Given the description of an element on the screen output the (x, y) to click on. 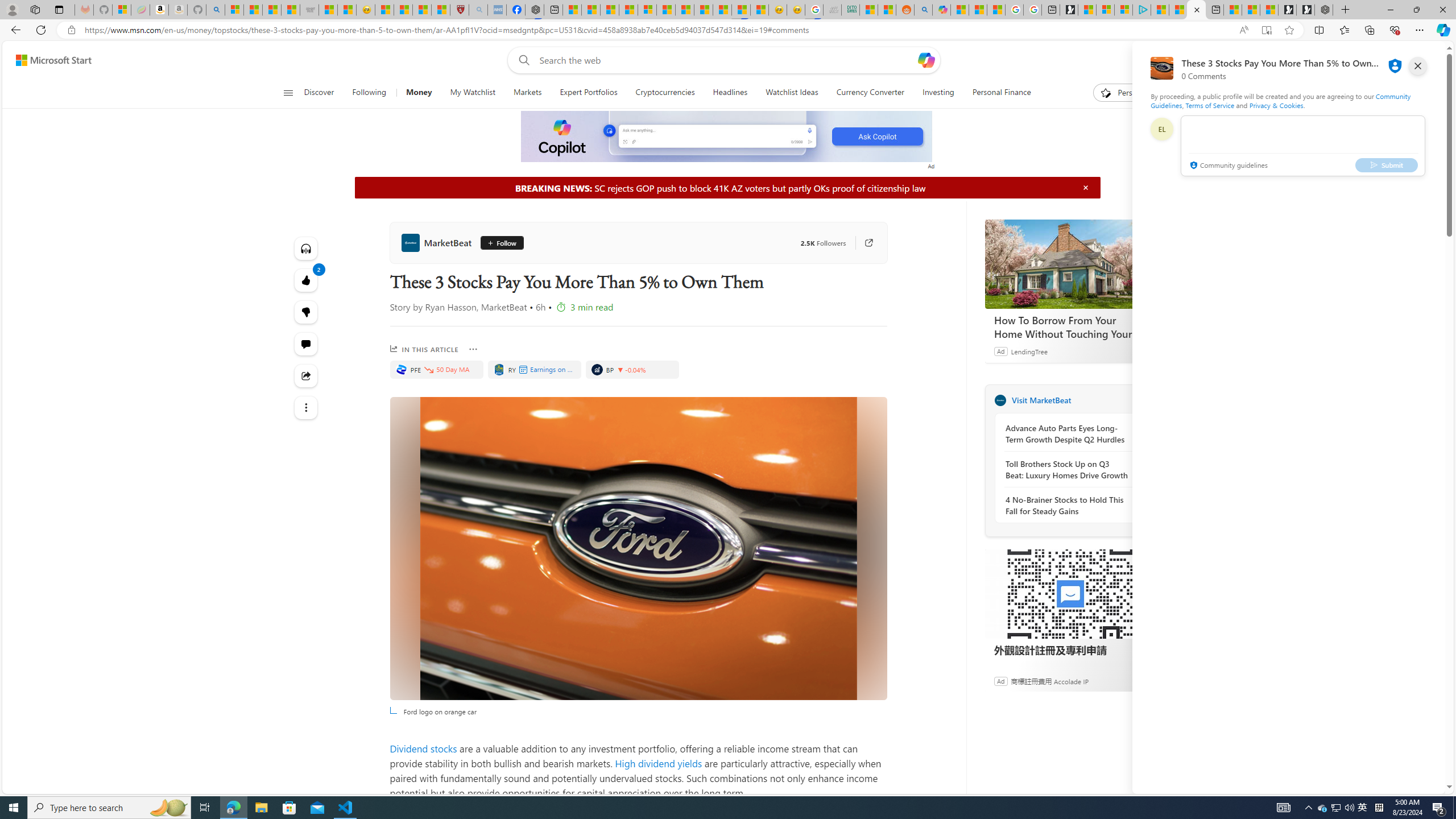
Terms of Service (1209, 104)
Open settings (1420, 60)
Microsoft rewards (1374, 60)
Visit MarketBeat website (1140, 399)
